Given the description of an element on the screen output the (x, y) to click on. 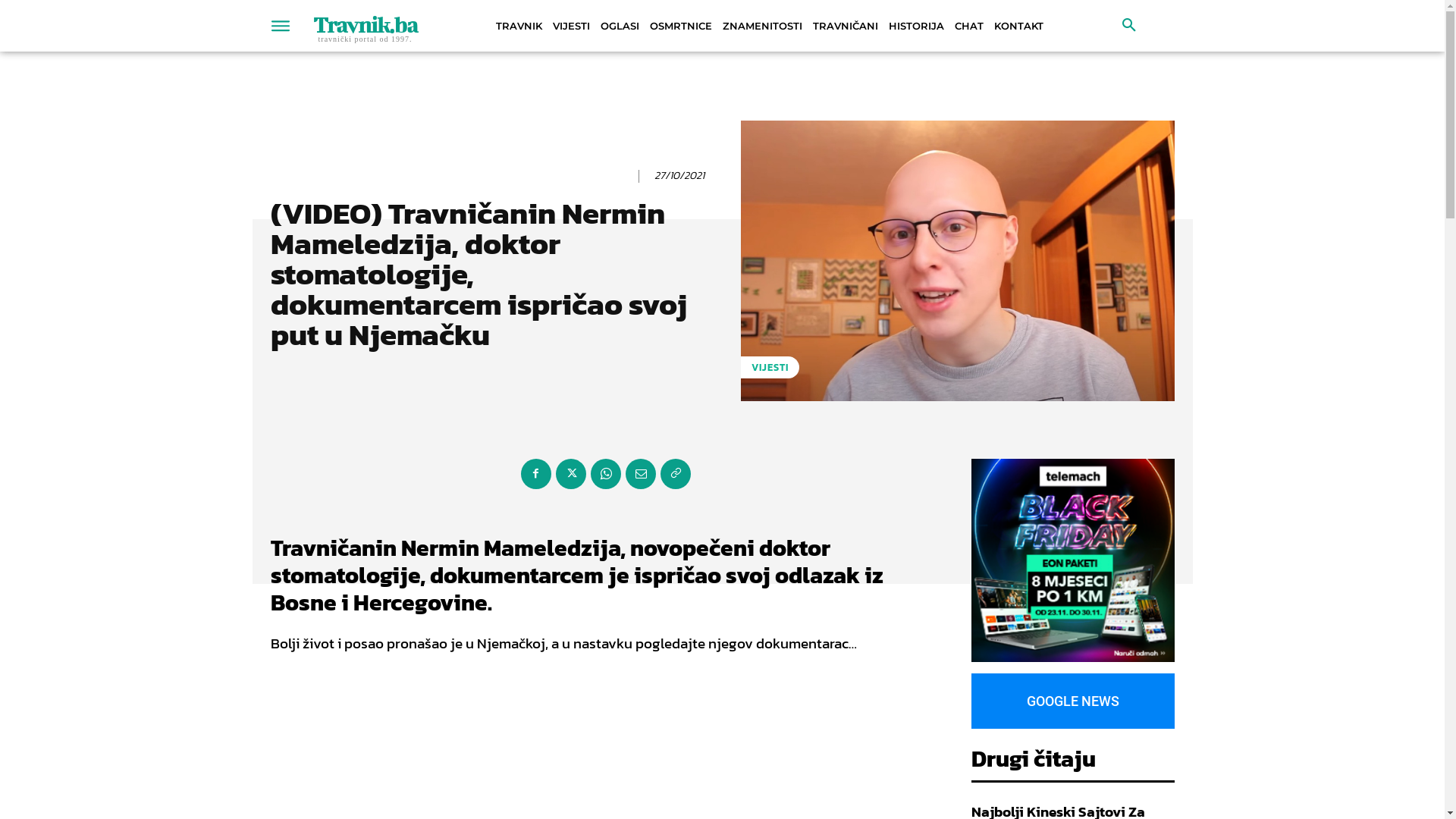
VIJESTI Element type: text (571, 25)
KONTAKT Element type: text (1018, 25)
OGLASI Element type: text (618, 25)
VIJESTI Element type: text (769, 367)
Copy URL Element type: hover (674, 473)
GOOGLE NEWS Element type: text (1071, 700)
Twitter Element type: hover (570, 473)
ZNAMENITOSTI Element type: text (762, 25)
Email Element type: hover (639, 473)
Facebook Element type: hover (535, 473)
WhatsApp Element type: hover (604, 473)
TRAVNIK Element type: text (517, 25)
OSMRTNICE Element type: text (680, 25)
HISTORIJA Element type: text (915, 25)
CHAT Element type: text (968, 25)
